Given the description of an element on the screen output the (x, y) to click on. 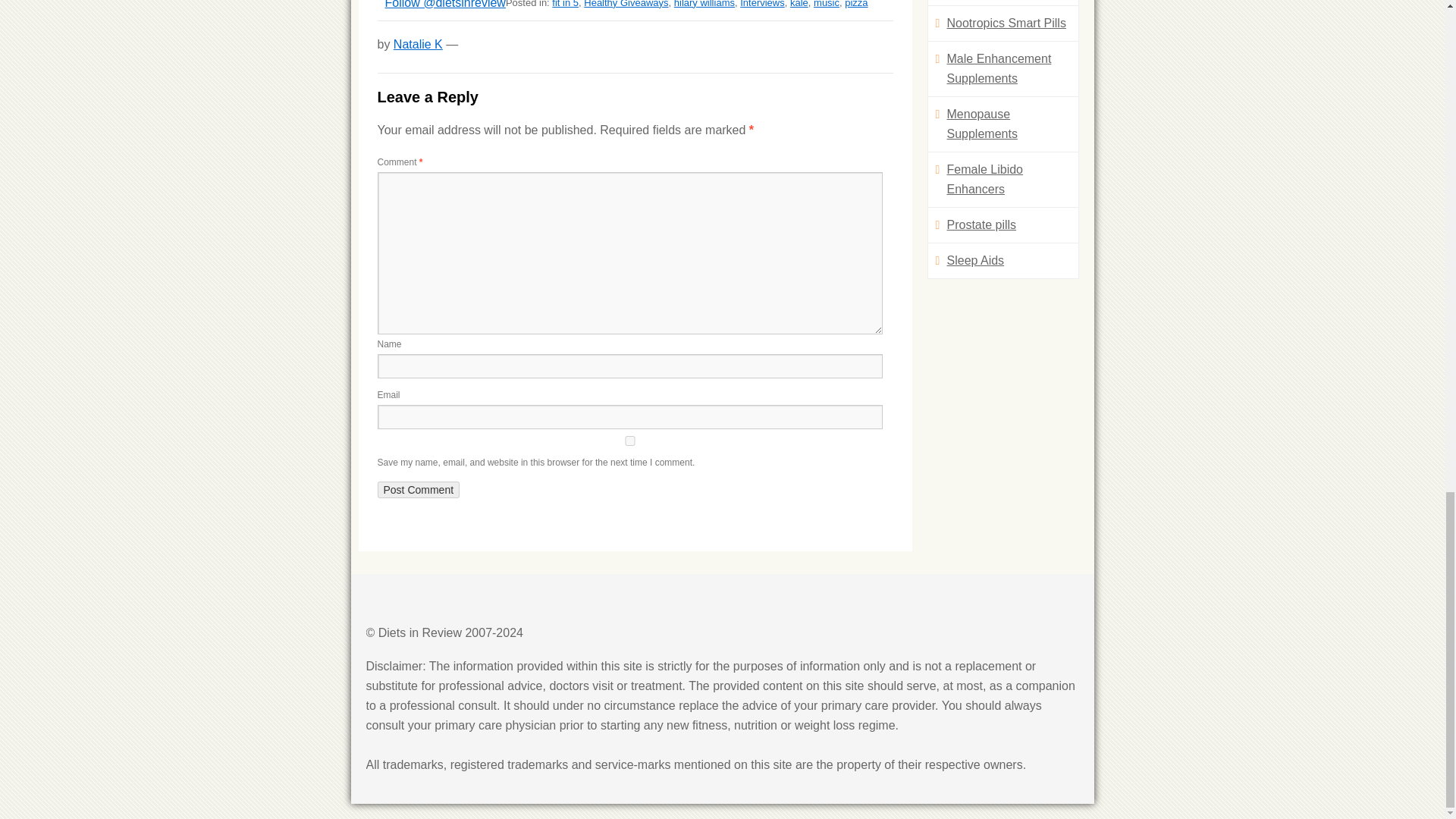
Post Comment (418, 489)
yes (629, 440)
